Given the description of an element on the screen output the (x, y) to click on. 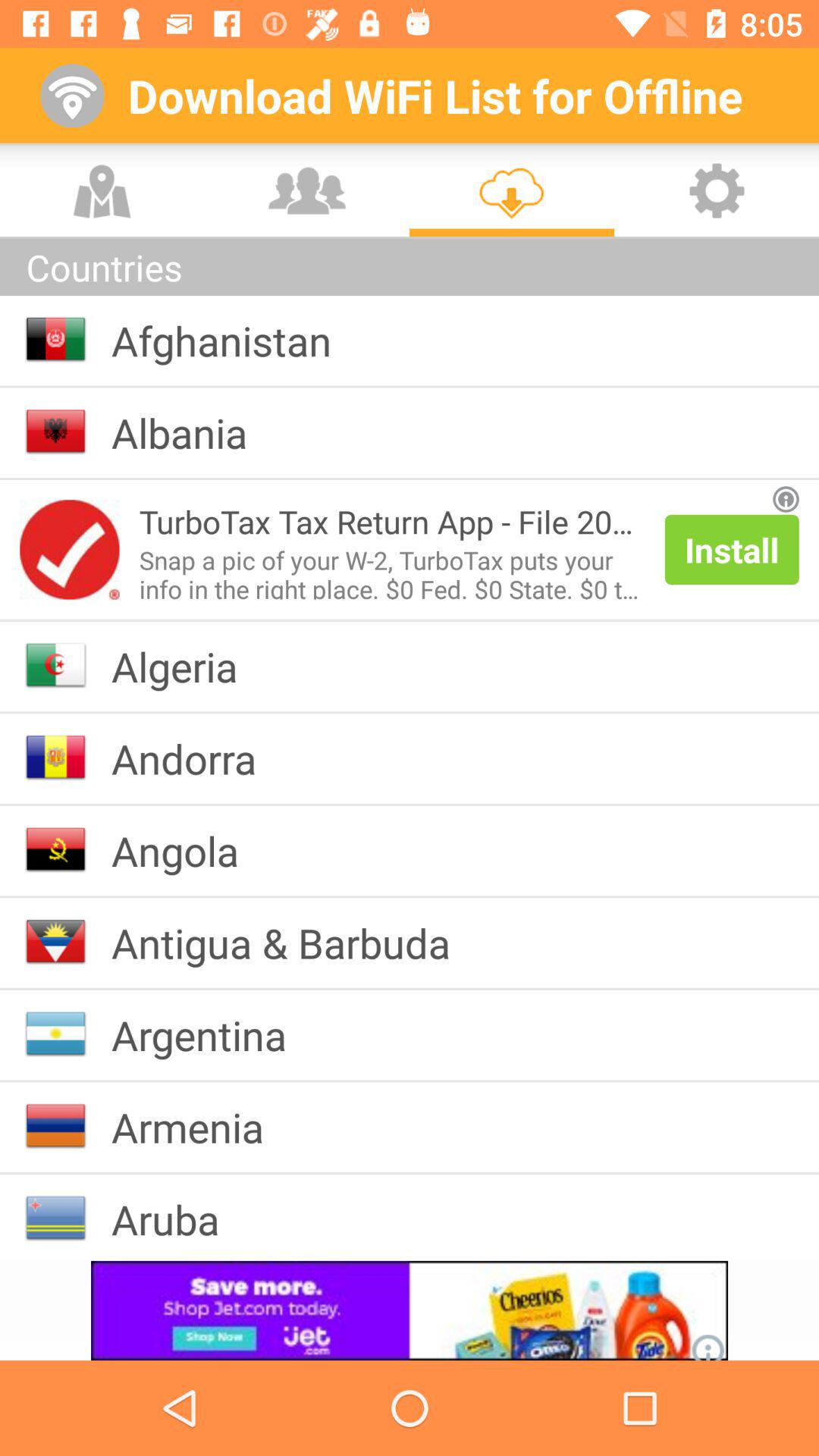
click item below turbotax tax return (391, 571)
